Given the description of an element on the screen output the (x, y) to click on. 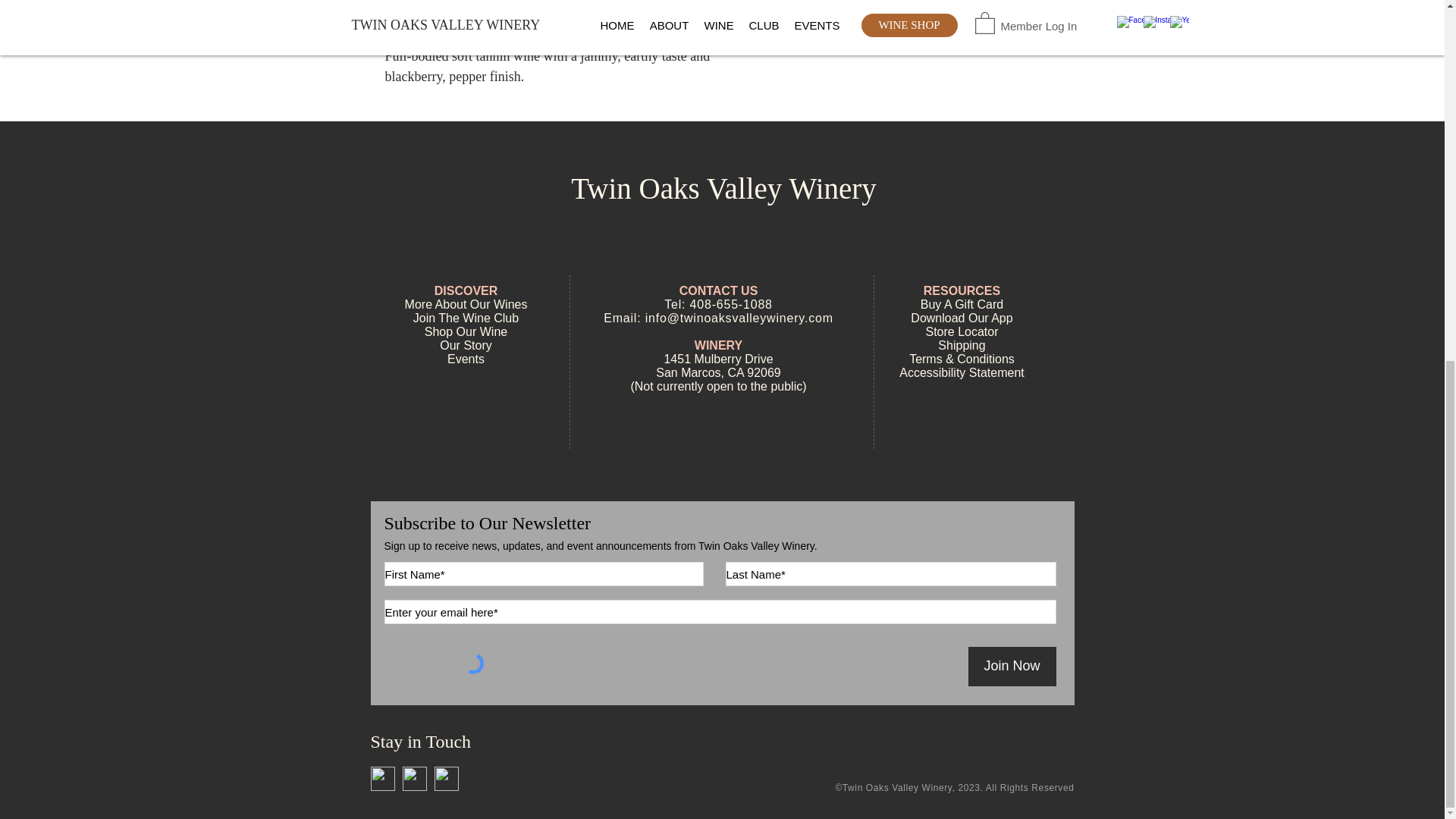
More About Our Wines (465, 304)
408-655-1088 (731, 304)
Shop Our Wine (465, 331)
Store Locator (960, 331)
Accessibility Statement (962, 372)
Join Now (1011, 666)
Events (465, 358)
Download Our App (961, 318)
Our Story (465, 345)
VINEYARD (924, 3)
